Given the description of an element on the screen output the (x, y) to click on. 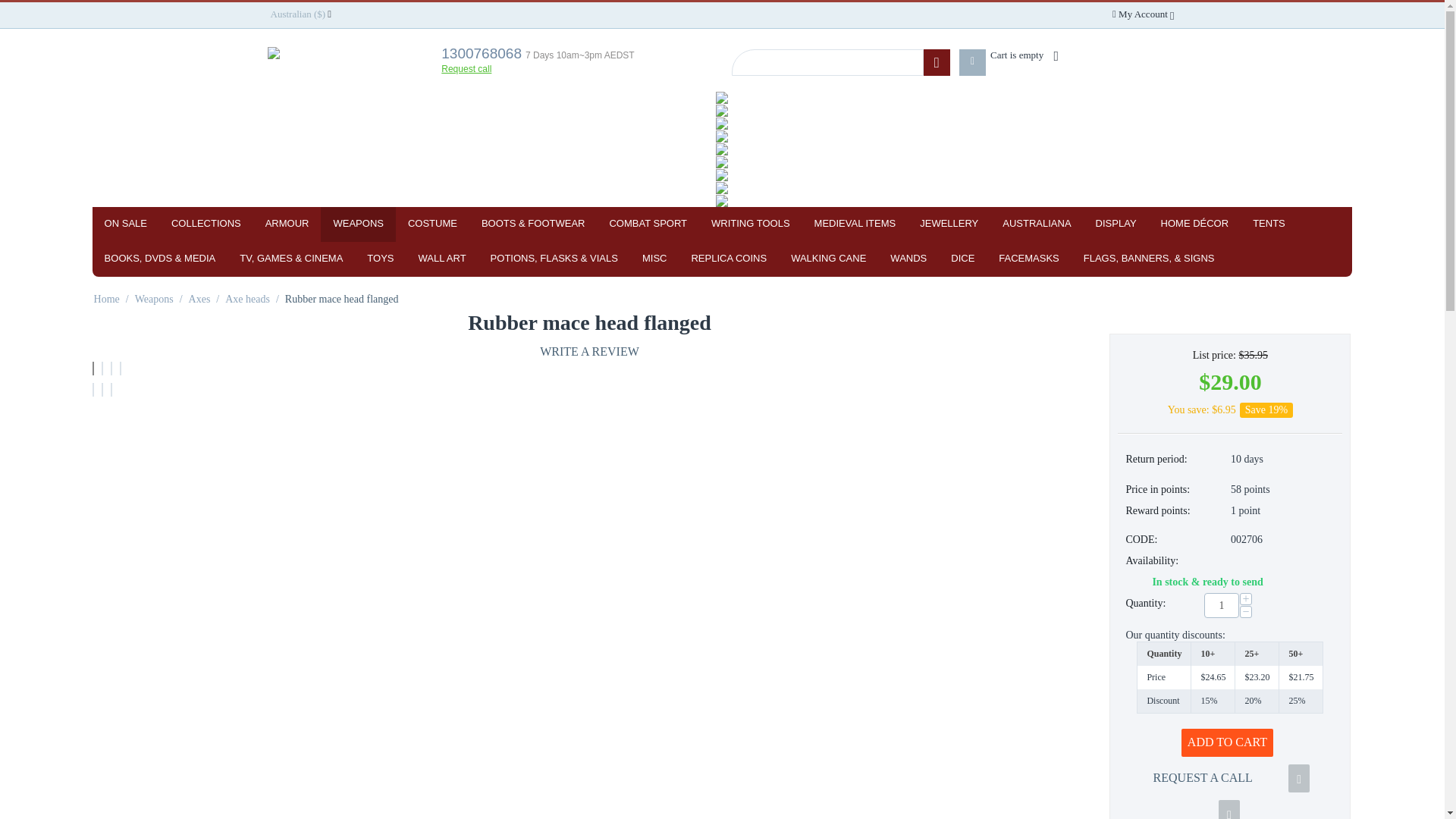
Instant quote (722, 187)
images of historical helmets (722, 97)
COLLECTIONS (205, 224)
Write a review (589, 352)
banner of Medieval replicas (722, 149)
ON SALE (125, 224)
 My Account (1142, 13)
historial canvas tents (722, 123)
medieval drinking horns (722, 110)
Cart is empty (1021, 54)
